Given the description of an element on the screen output the (x, y) to click on. 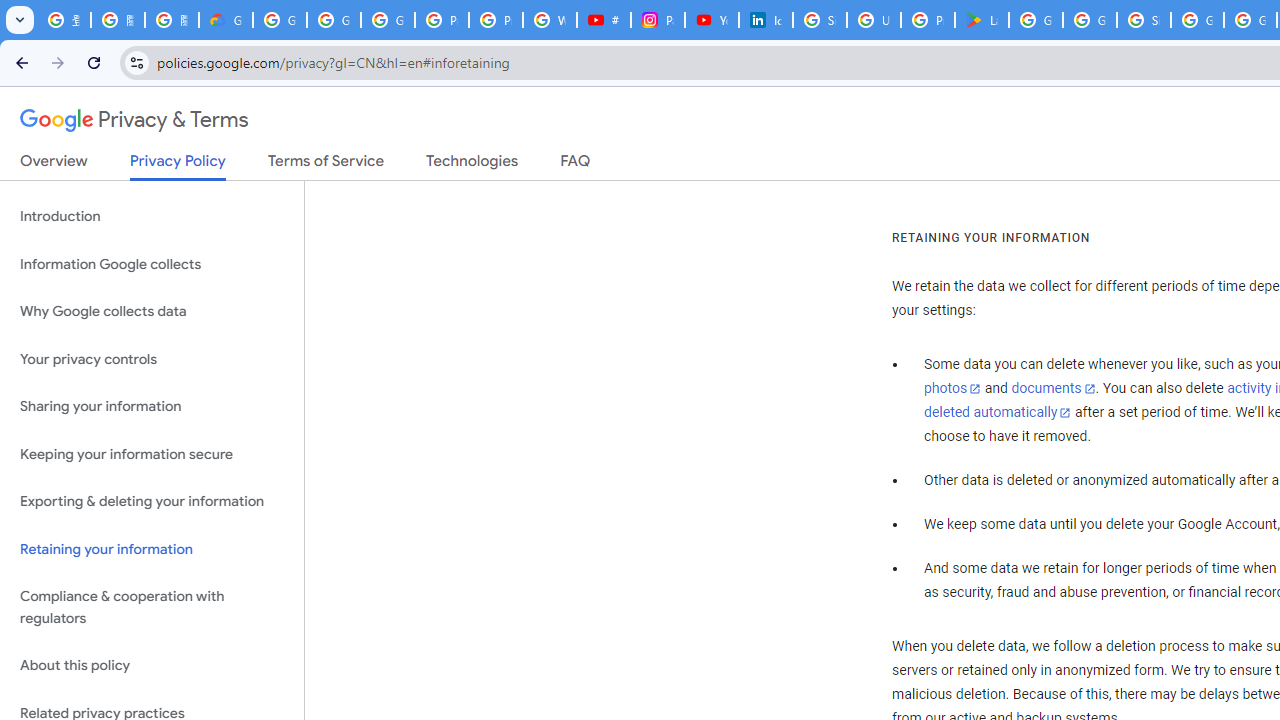
Exporting & deleting your information (152, 502)
